Given the description of an element on the screen output the (x, y) to click on. 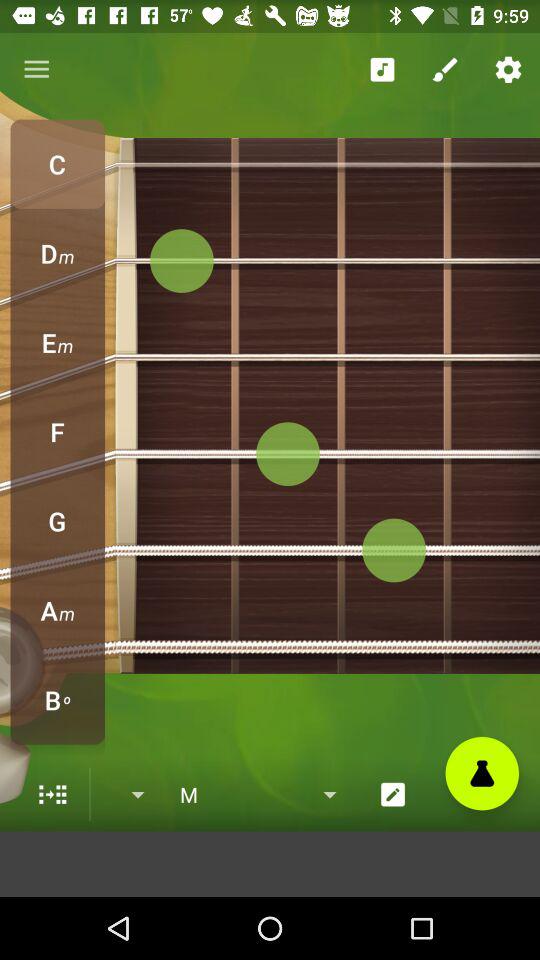
advertisement link (270, 864)
